Given the description of an element on the screen output the (x, y) to click on. 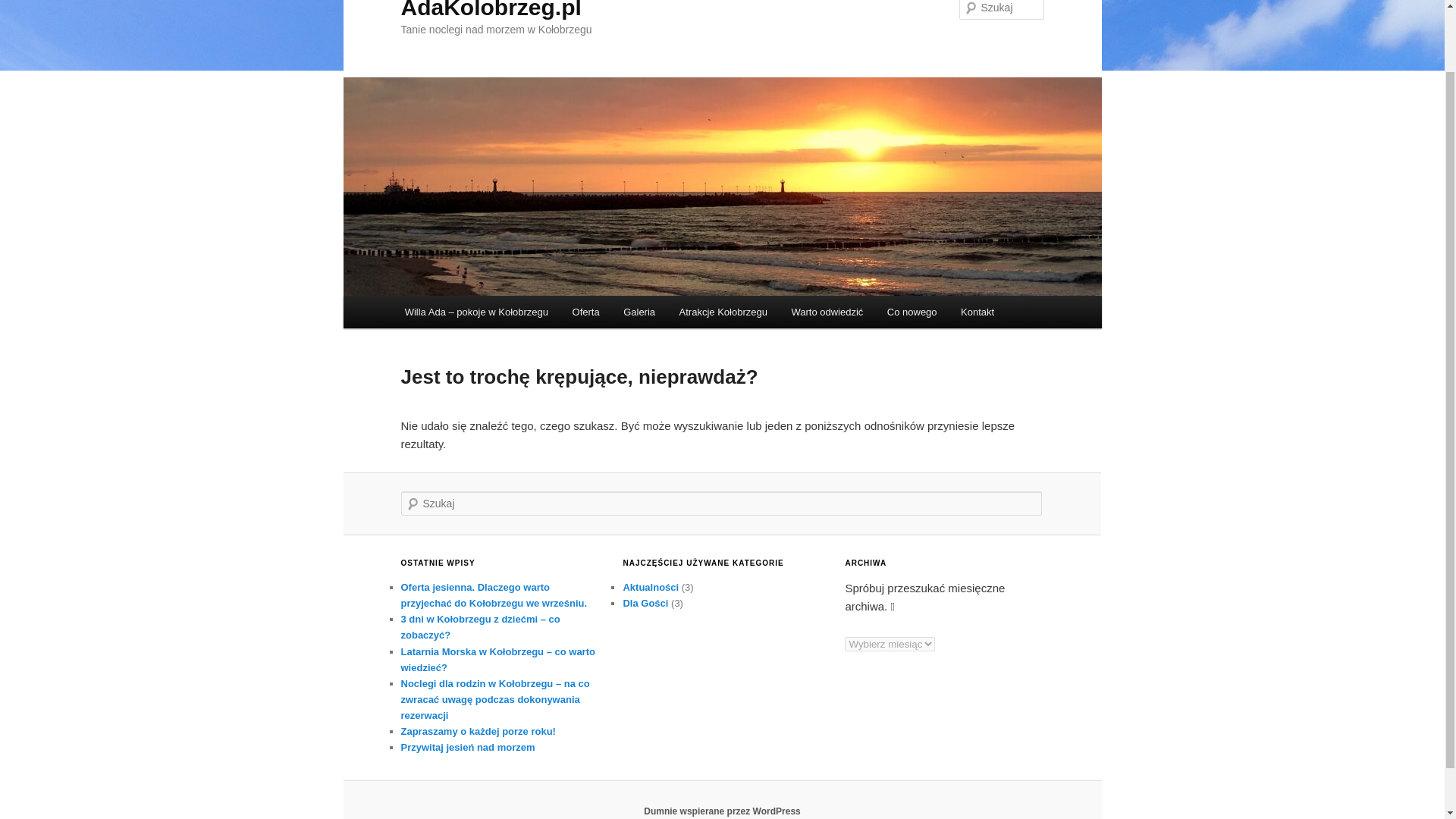
Kontakt (977, 311)
Galeria (638, 311)
AdaKolobrzeg.pl (490, 9)
Semantyczna platforma publikowania osobistego (721, 810)
Oferta (585, 311)
Dumnie wspierane przez WordPress (721, 810)
Co nowego (912, 311)
